Given the description of an element on the screen output the (x, y) to click on. 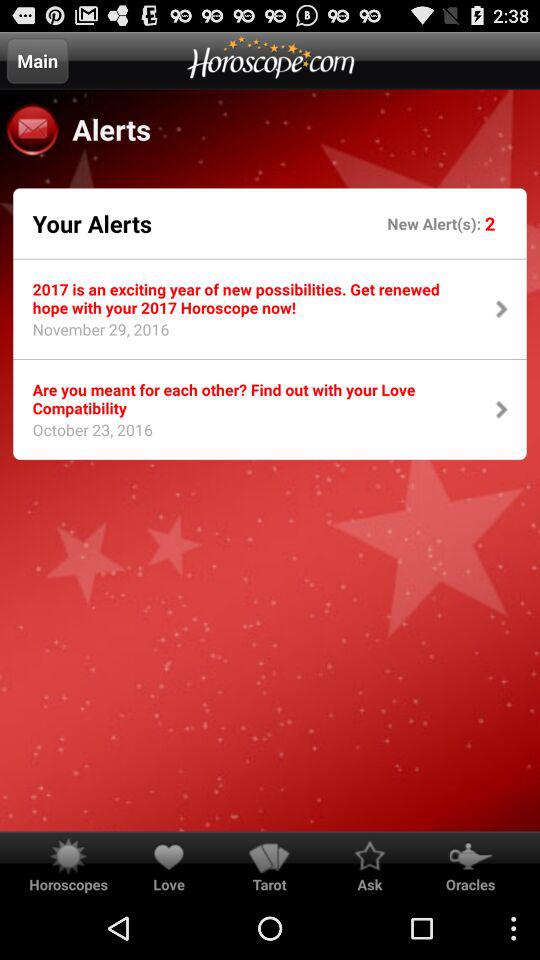
swipe to main (37, 60)
